Given the description of an element on the screen output the (x, y) to click on. 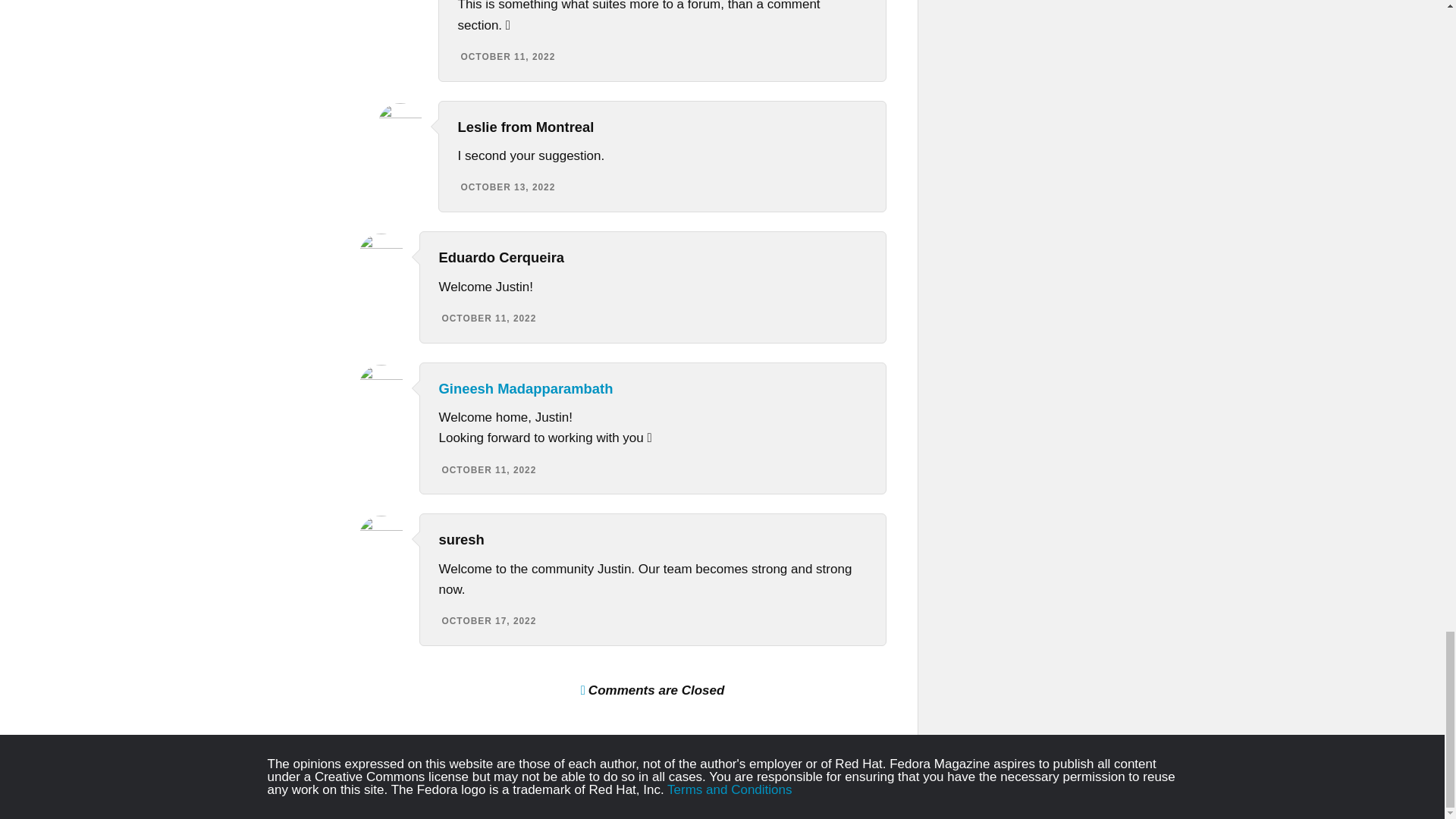
October 13, 2022 at 00:53 (508, 186)
October 11, 2022 at 03:07 (488, 470)
October 11, 2022 at 02:35 (488, 317)
October 17, 2022 at 17:14 (488, 620)
October 11, 2022 at 11:25 (508, 56)
